Given the description of an element on the screen output the (x, y) to click on. 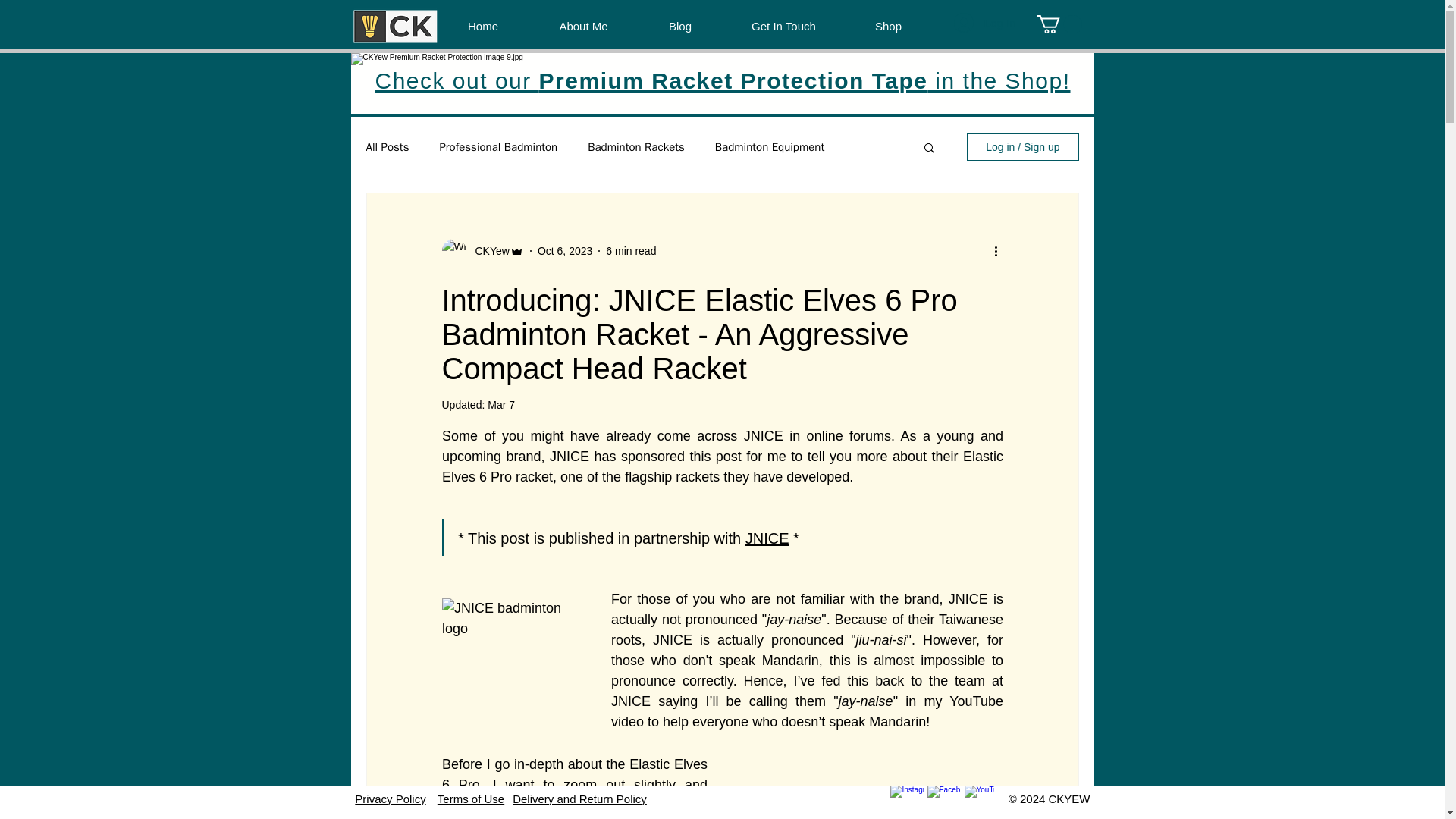
Badminton Rackets (636, 147)
CKYew (486, 251)
Badminton Equipment (769, 147)
All Posts (387, 147)
CKYew (481, 250)
6 min read (630, 250)
Blog (680, 26)
Professional Badminton (498, 147)
Mar 7 (501, 404)
Shop (887, 26)
JNICE (766, 537)
About Me (582, 26)
Get In Touch (783, 26)
Check out our Premium Racket Protection Tape in the Shop! (722, 80)
Log In (984, 22)
